Given the description of an element on the screen output the (x, y) to click on. 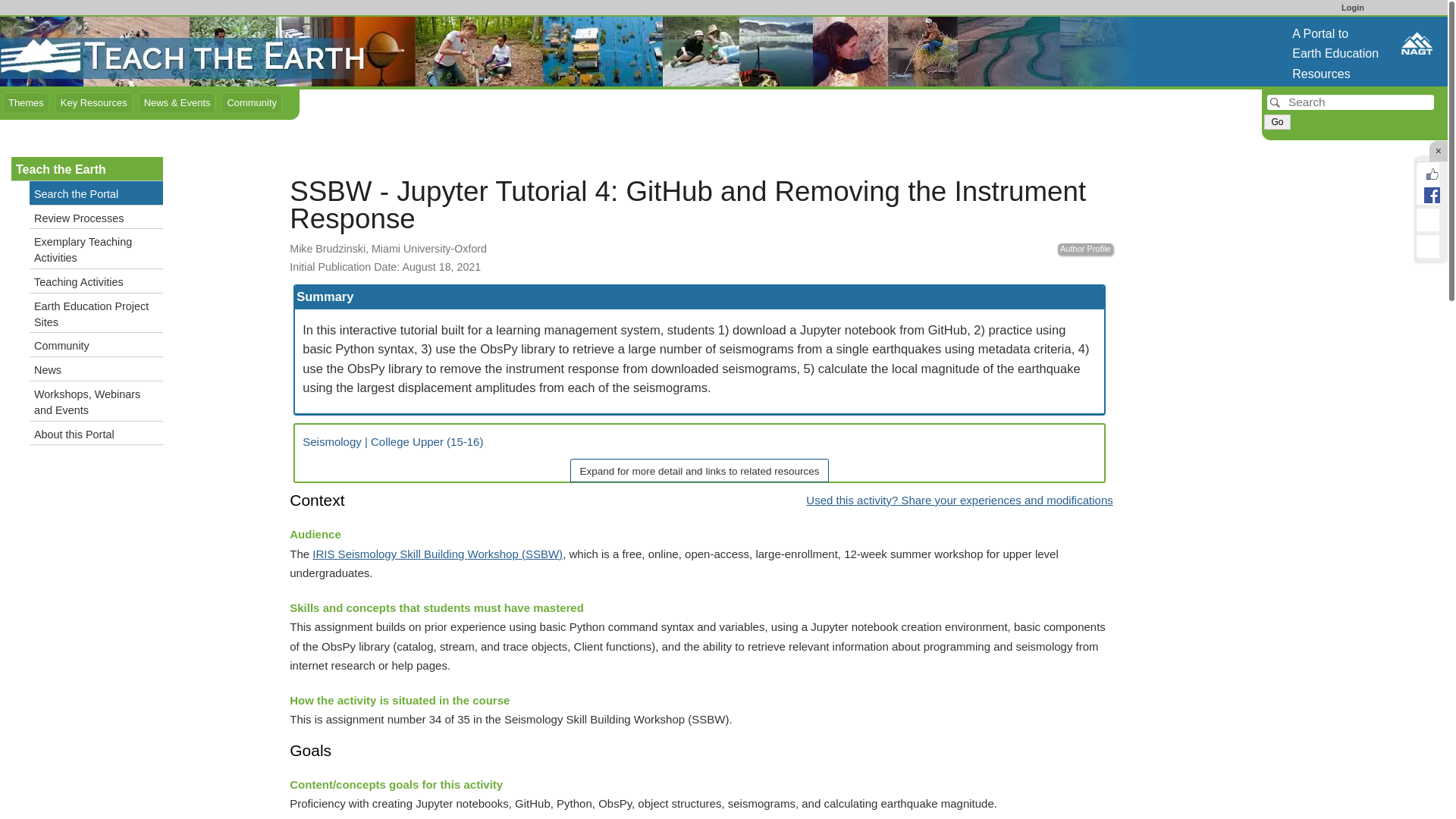
Themes (26, 103)
Teach the Earth front page (186, 50)
Tweet this page (1427, 219)
Share this page on Facebook (1427, 192)
Like this page on Facebook (1427, 172)
Mail this page to a friend (1427, 246)
